Given the description of an element on the screen output the (x, y) to click on. 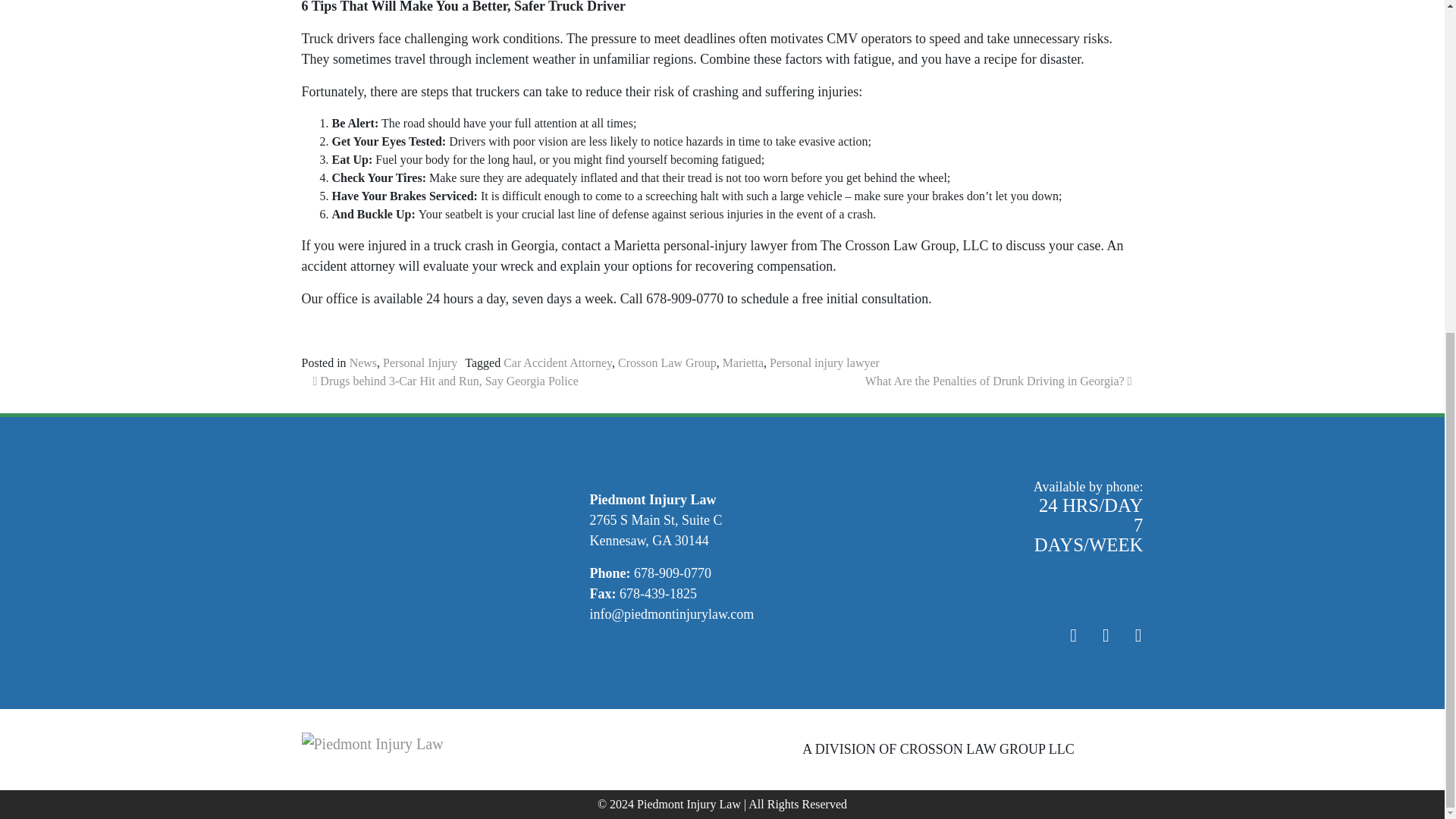
News (363, 362)
Personal injury lawyer (824, 362)
Personal Injury (419, 362)
Marietta (742, 362)
678-909-0770 (672, 572)
 Drugs behind 3-Car Hit and Run, Say Georgia Police (445, 380)
Crosson Law Group (666, 362)
Car Accident Attorney (557, 362)
What Are the Penalties of Drunk Driving in Georgia?  (998, 380)
